Given the description of an element on the screen output the (x, y) to click on. 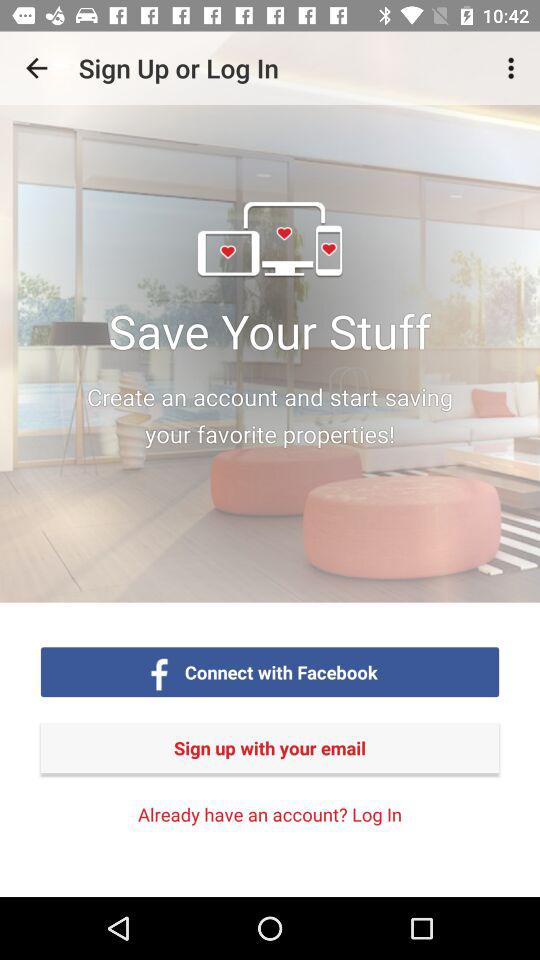
press the item at the top right corner (513, 67)
